Given the description of an element on the screen output the (x, y) to click on. 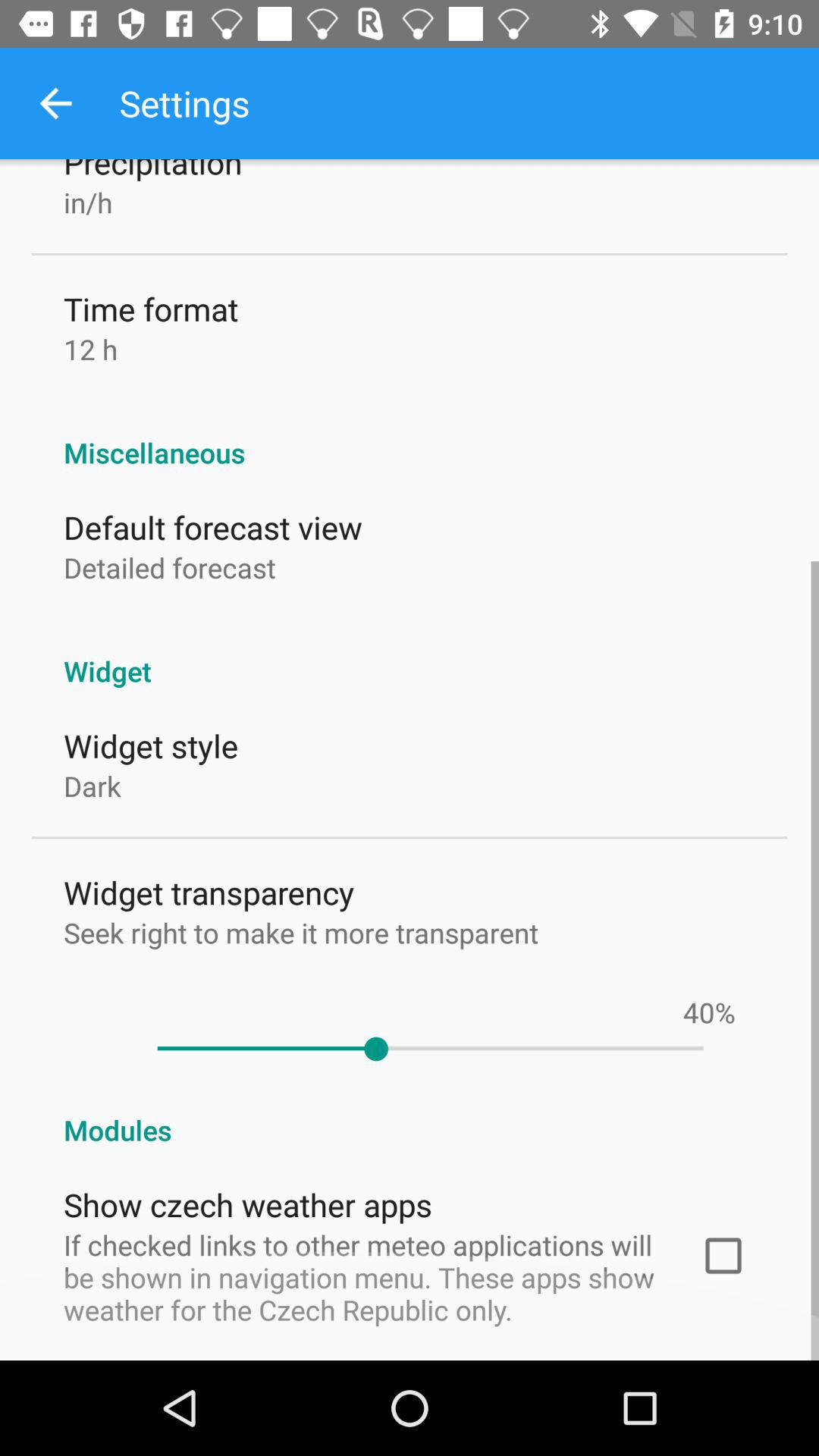
swipe to the 40 item (698, 1012)
